Given the description of an element on the screen output the (x, y) to click on. 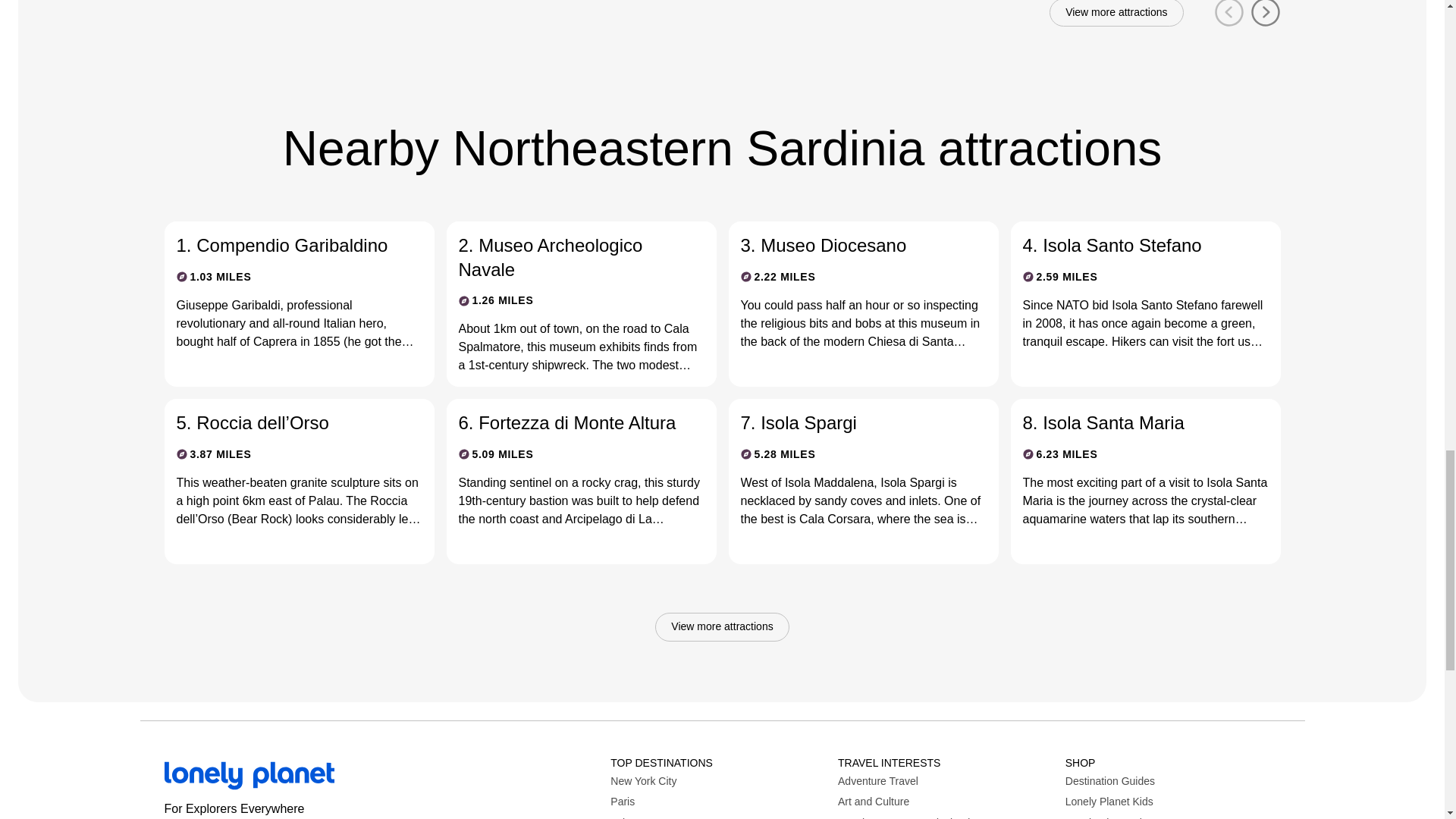
1. Compendio Garibaldino (286, 245)
View more attractions (722, 626)
8. Isola Santa Maria (1132, 422)
3. Museo Diocesano (849, 245)
View more attractions (1115, 13)
2. Museo Archeologico Navale (568, 256)
7. Isola Spargi (849, 422)
4. Isola Santo Stefano (1132, 245)
6. Fortezza di Monte Altura (568, 422)
